Given the description of an element on the screen output the (x, y) to click on. 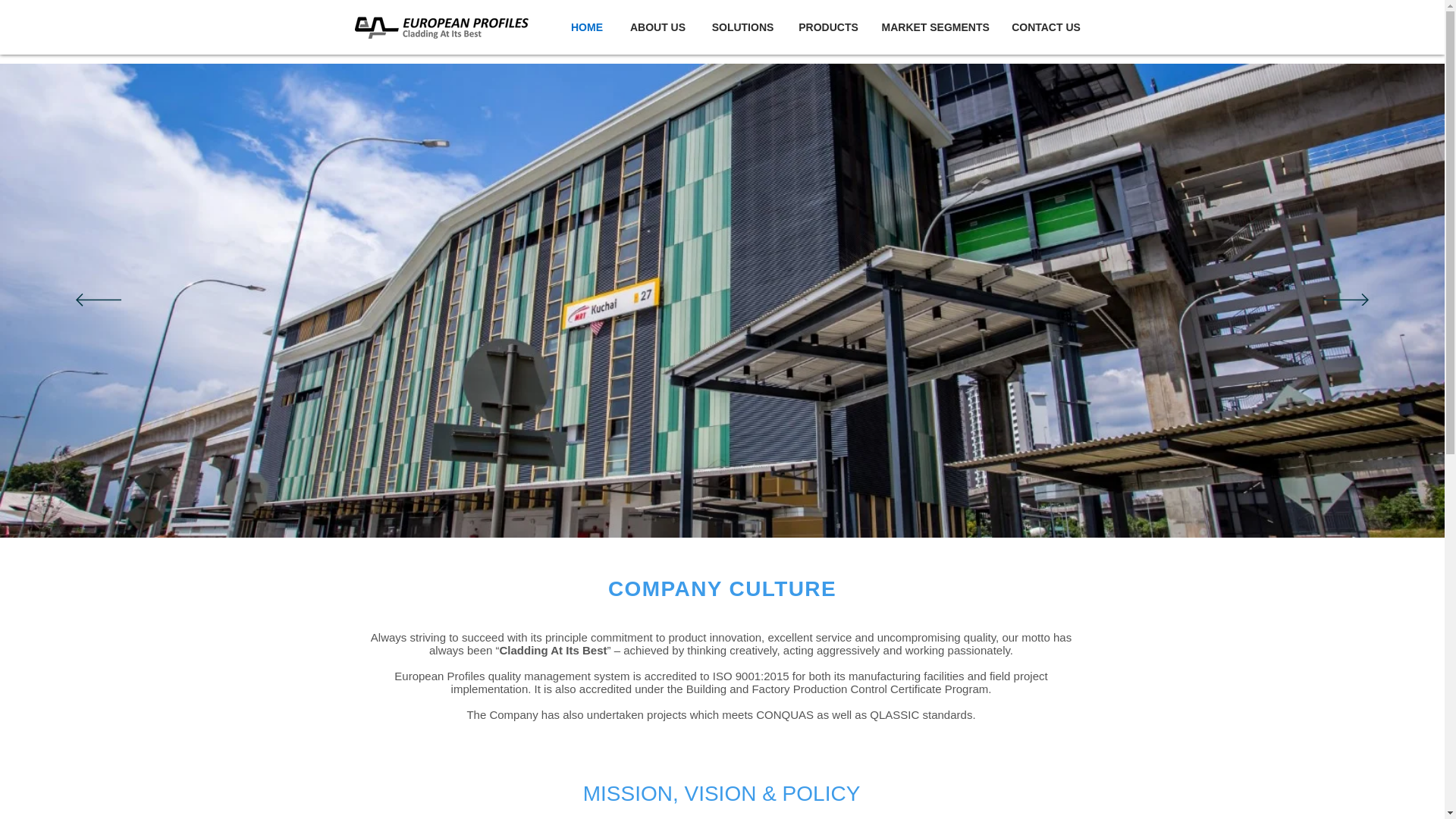
CONTACT US (1045, 26)
HOME (585, 26)
PRODUCTS (828, 26)
ABOUT US (657, 26)
SOLUTIONS (742, 26)
MARKET SEGMENTS (934, 26)
